Given the description of an element on the screen output the (x, y) to click on. 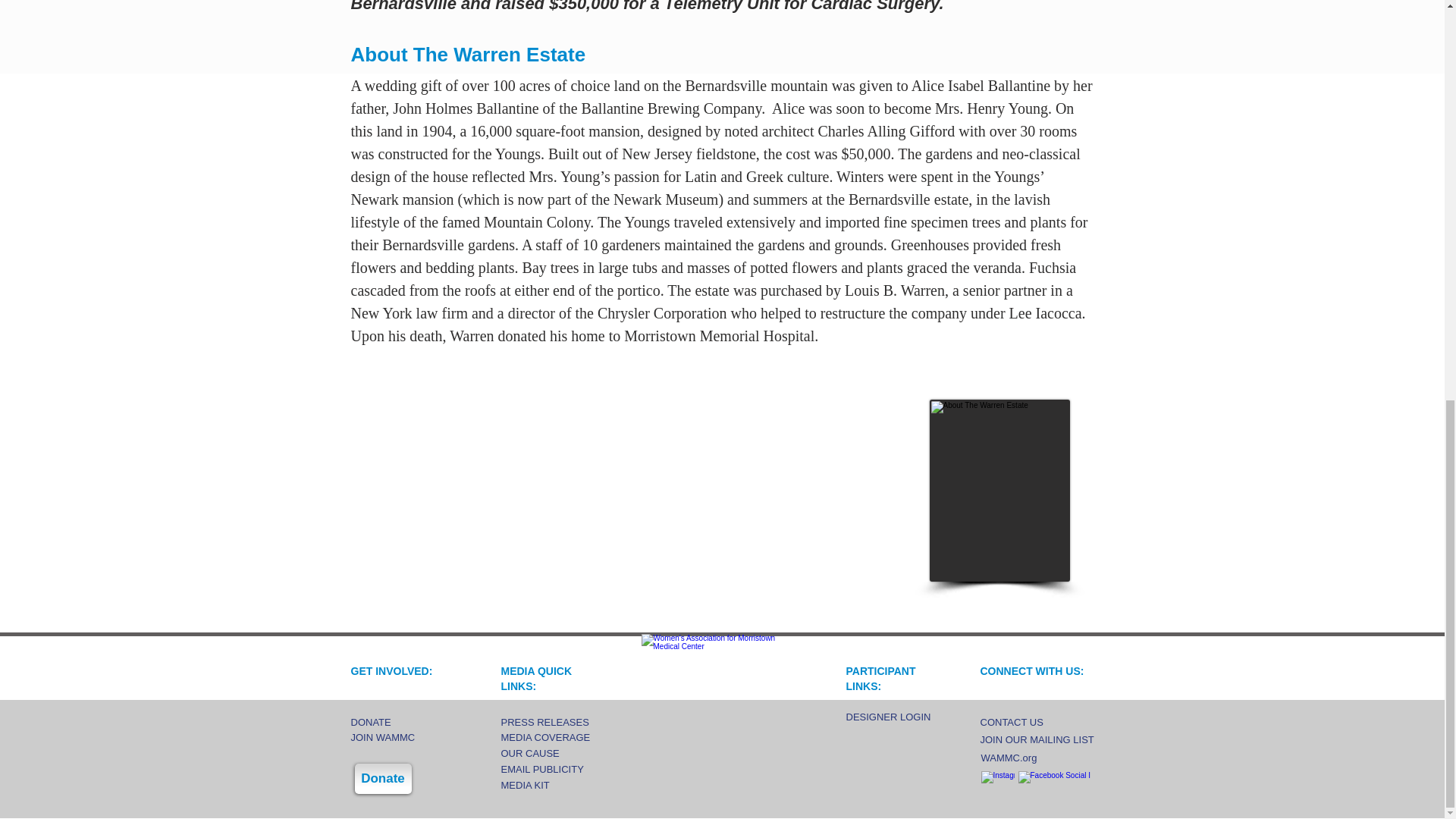
DESIGNER LOGIN (892, 716)
JOIN OUR MAILING LIST (1036, 739)
MEDIA KIT (557, 785)
Producers of Mansion in May Designer Showhouse and Gardens (722, 694)
MEDIA COVERAGE (557, 737)
EMAIL PUBLICITY (557, 769)
PRESS RELEASES (557, 722)
JOIN WAMMC (399, 737)
Donate (383, 778)
WAMMC.org (1028, 757)
DONATE (399, 722)
OUR CAUSE (557, 753)
CONTACT US (1026, 722)
